Given the description of an element on the screen output the (x, y) to click on. 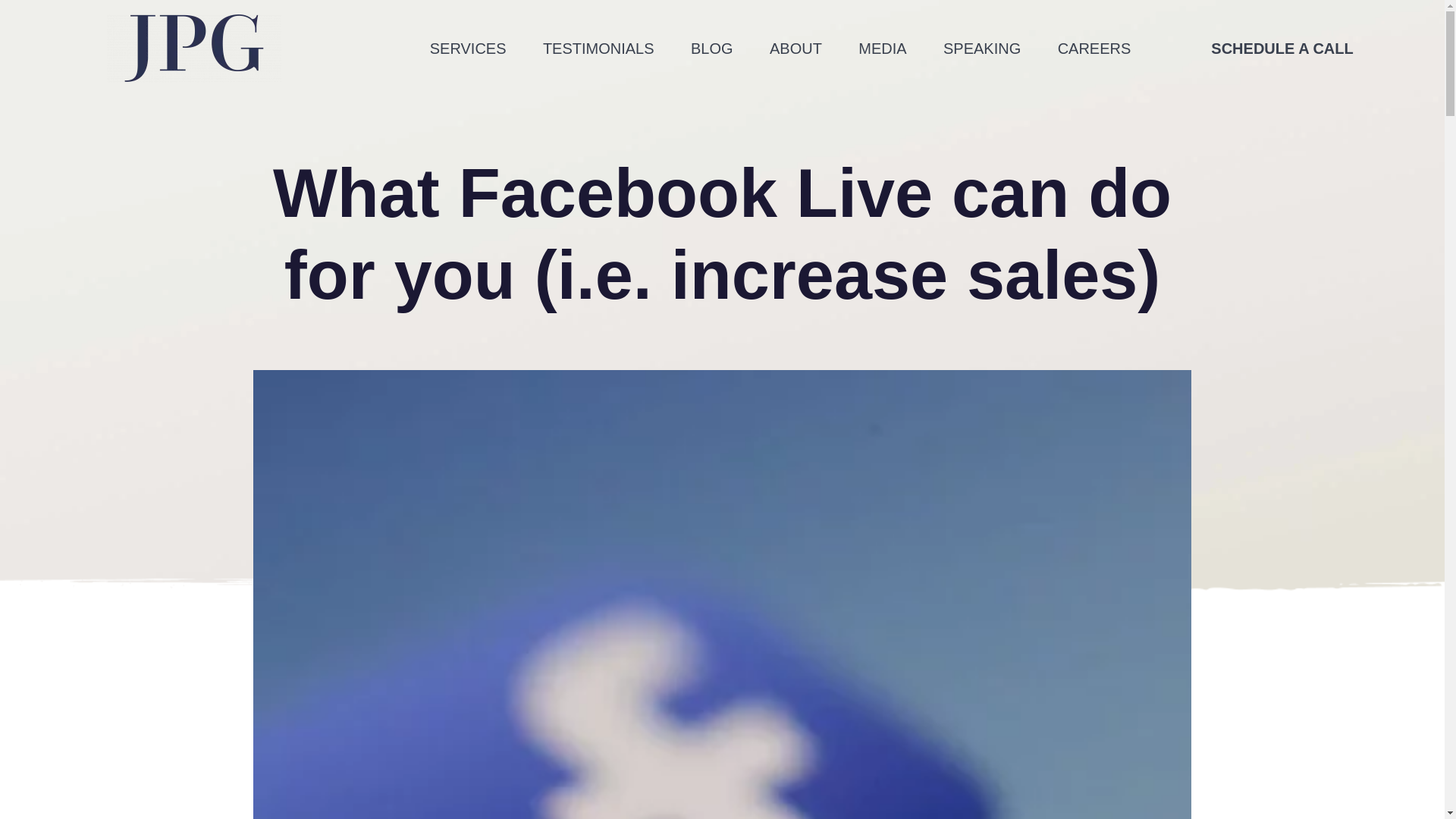
MEDIA (882, 47)
TESTIMONIALS (598, 47)
SPEAKING (981, 47)
jpg logo cropped (193, 48)
BLOG (711, 47)
CAREERS (1093, 47)
ABOUT (795, 47)
SERVICES (468, 47)
SCHEDULE A CALL (1281, 47)
